Given the description of an element on the screen output the (x, y) to click on. 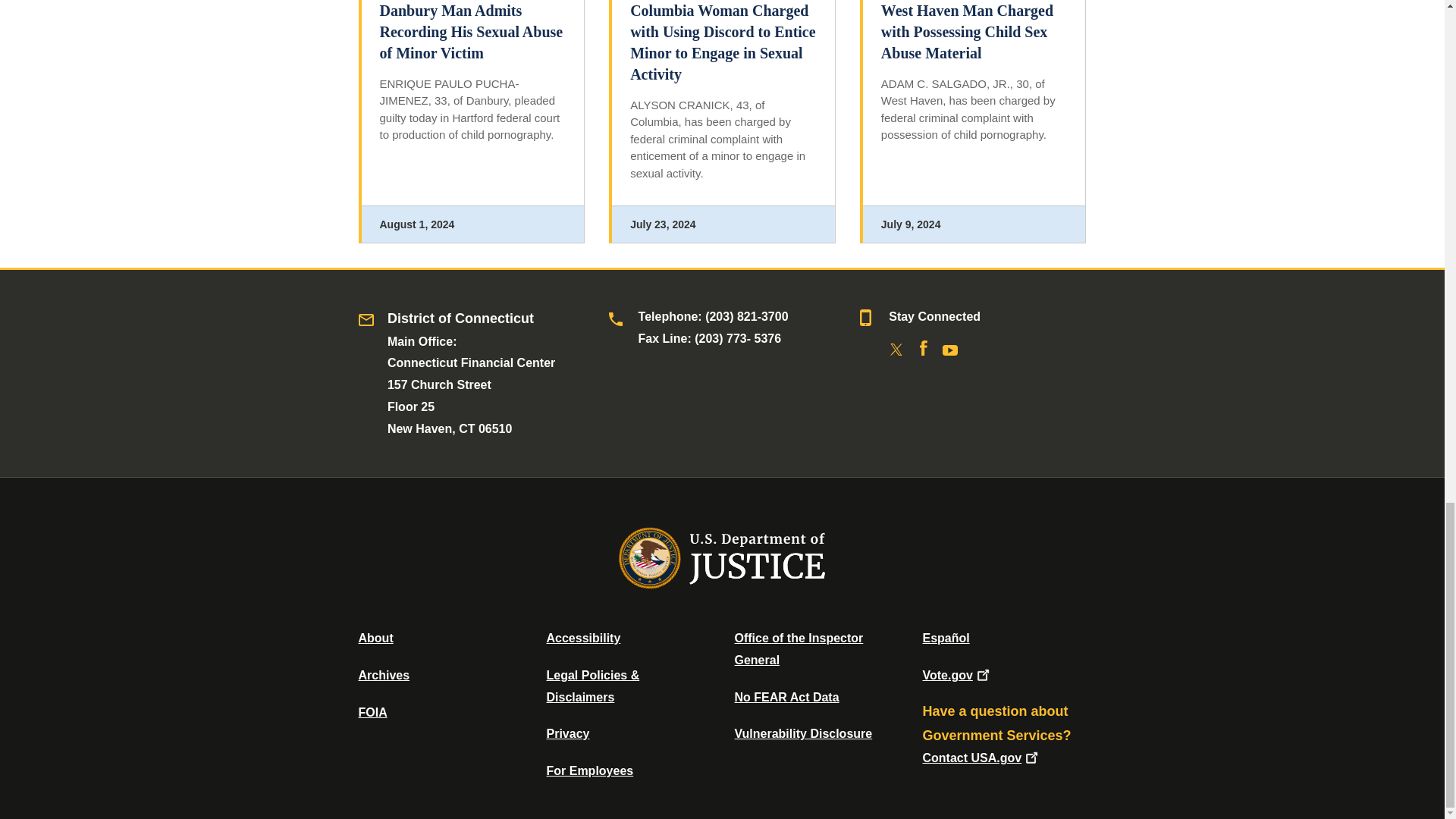
Department of Justice Archive (383, 675)
For Employees (589, 770)
Accessibility Statement (583, 637)
Legal Policies and Disclaimers (592, 686)
About DOJ (375, 637)
Data Posted Pursuant To The No Fear Act (785, 697)
Office of Information Policy (372, 712)
